Given the description of an element on the screen output the (x, y) to click on. 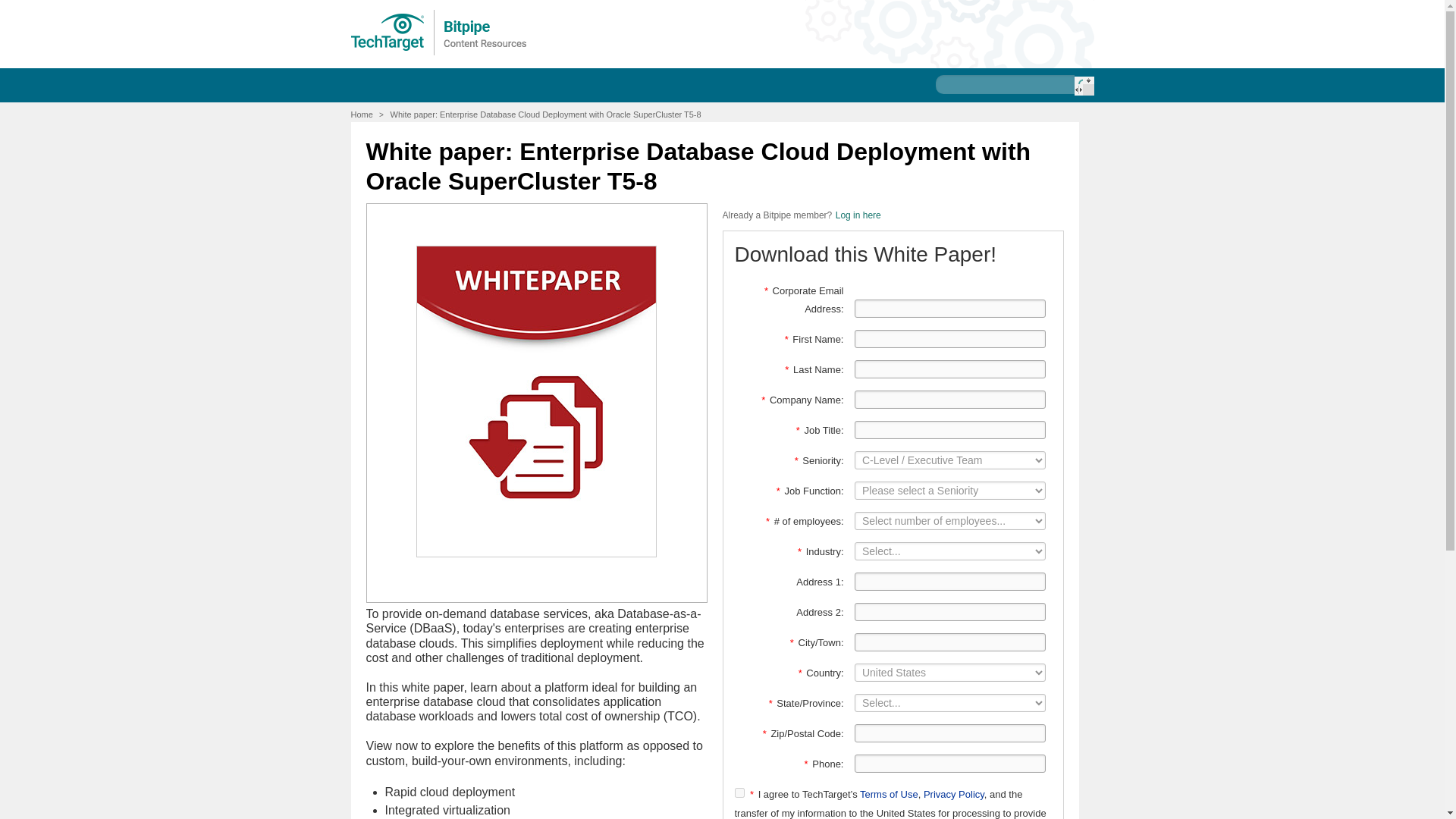
Terms of Use (889, 794)
Home (361, 113)
Search (1083, 85)
Log in here (857, 214)
Search (1083, 85)
Bitpipe (439, 32)
true (738, 792)
Privacy Policy (953, 794)
